Given the description of an element on the screen output the (x, y) to click on. 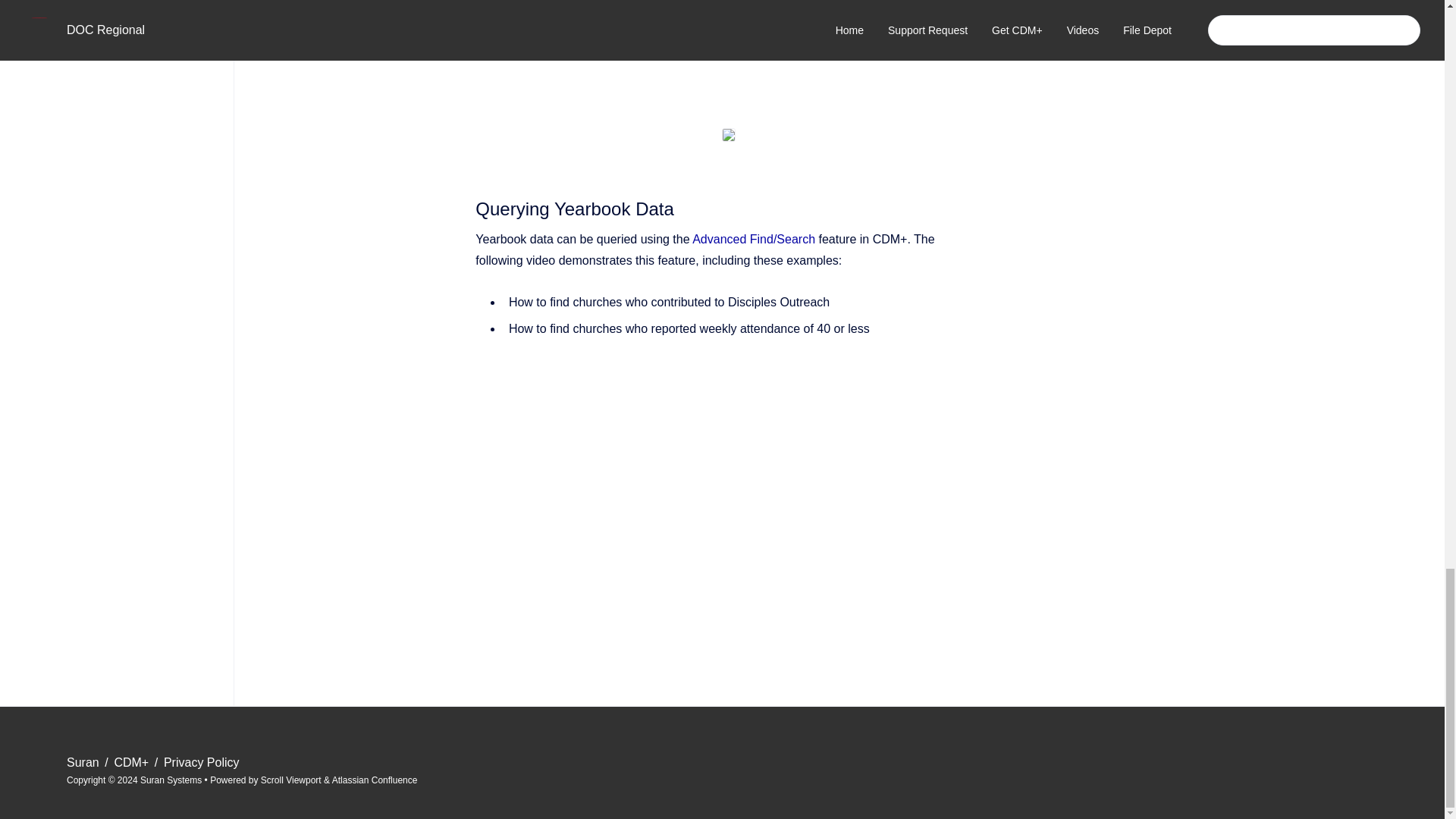
Atlassian Confluence (374, 779)
Privacy Policy (201, 762)
Suran (83, 762)
Scroll Viewport (291, 779)
